Given the description of an element on the screen output the (x, y) to click on. 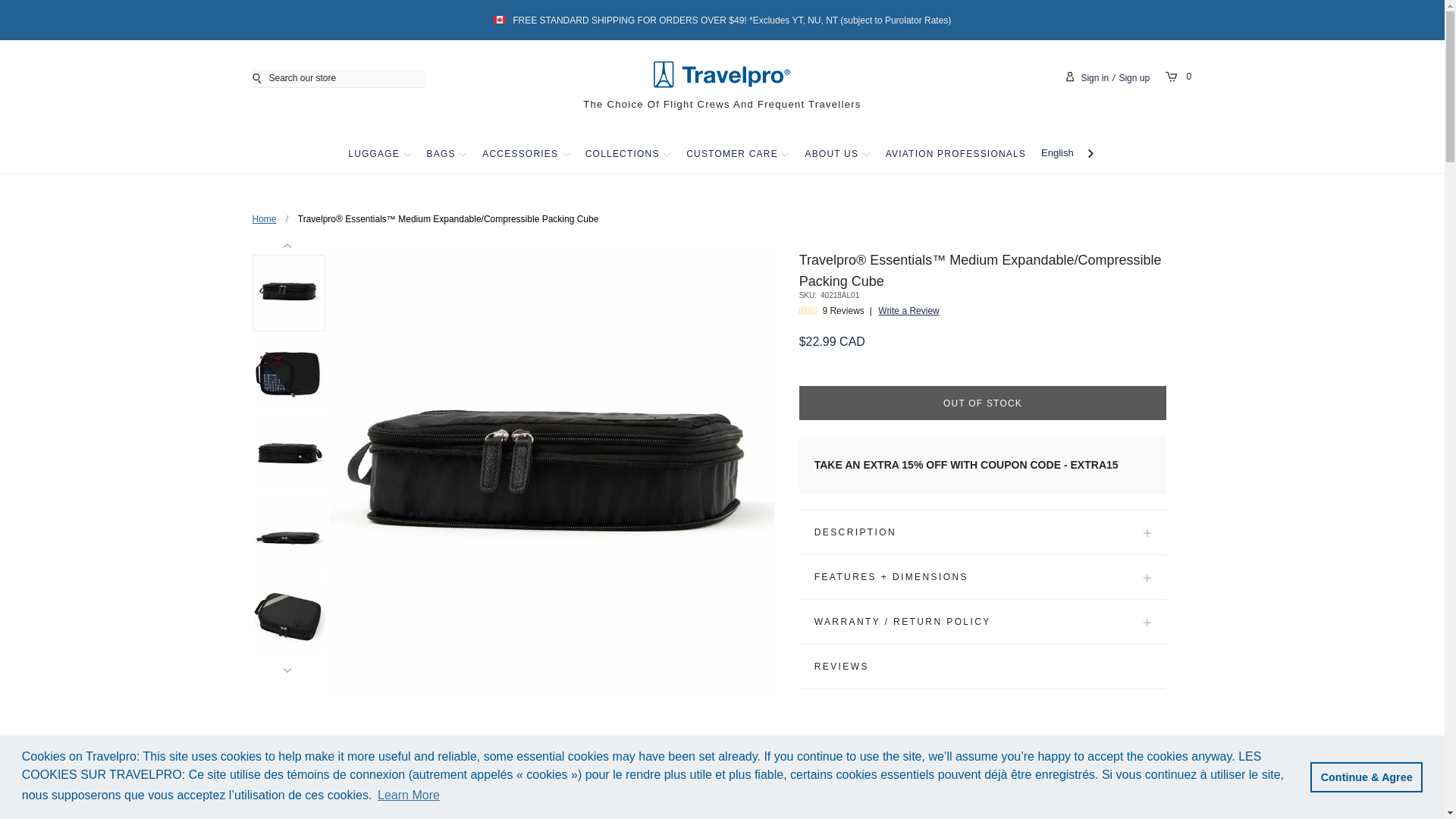
BAGS (440, 153)
LUGGAGE (372, 153)
Sign in (1094, 77)
Learn More (408, 794)
Sign up (1134, 77)
Account (1072, 77)
Home (263, 218)
SEARCH (259, 77)
